Given the description of an element on the screen output the (x, y) to click on. 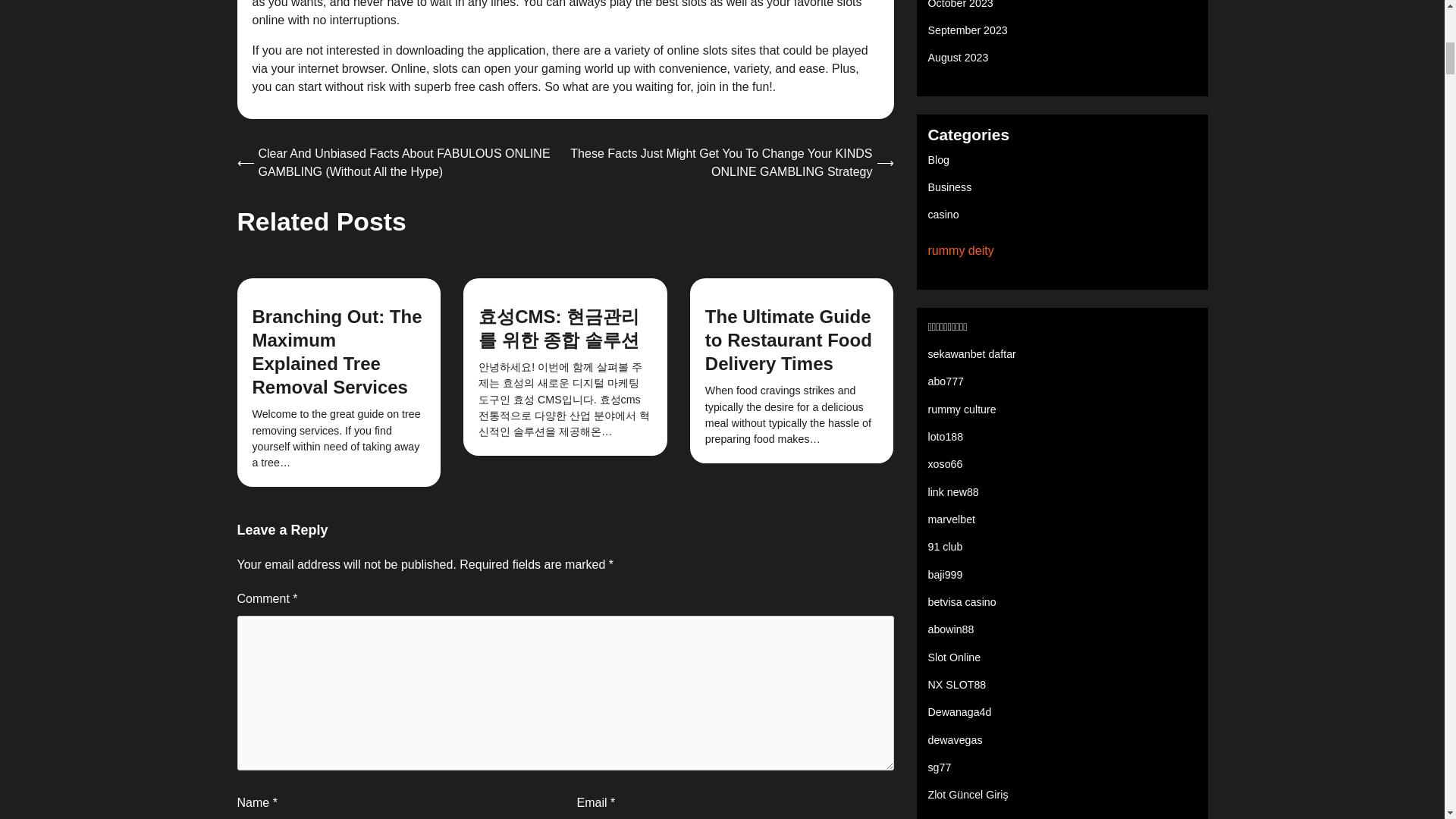
Business (950, 186)
rummy deity (961, 250)
casino (943, 214)
sekawanbet daftar (972, 354)
August 2023 (958, 57)
The Ultimate Guide to Restaurant Food Delivery Times (788, 339)
September 2023 (967, 30)
Blog (939, 159)
Branching Out: The Maximum Explained Tree Removal Services (336, 352)
October 2023 (960, 4)
